Given the description of an element on the screen output the (x, y) to click on. 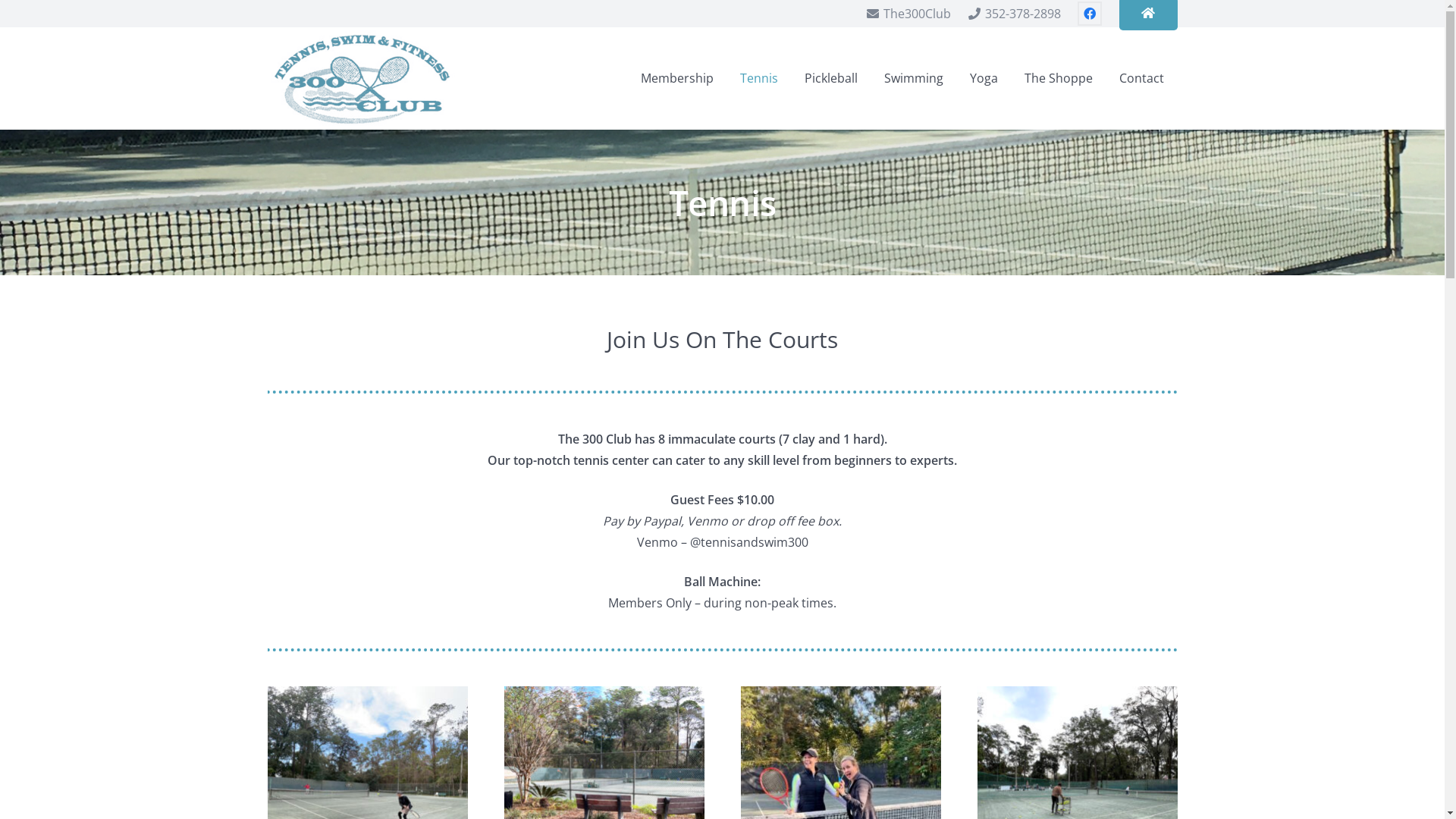
Facebook Element type: hover (1089, 13)
Yoga Element type: text (984, 78)
Tennis Element type: text (759, 78)
Membership Element type: text (677, 78)
Contact Element type: text (1141, 78)
The300Club Element type: text (908, 13)
The Shoppe Element type: text (1058, 78)
Pickleball Element type: text (831, 78)
Swimming Element type: text (914, 78)
